Given the description of an element on the screen output the (x, y) to click on. 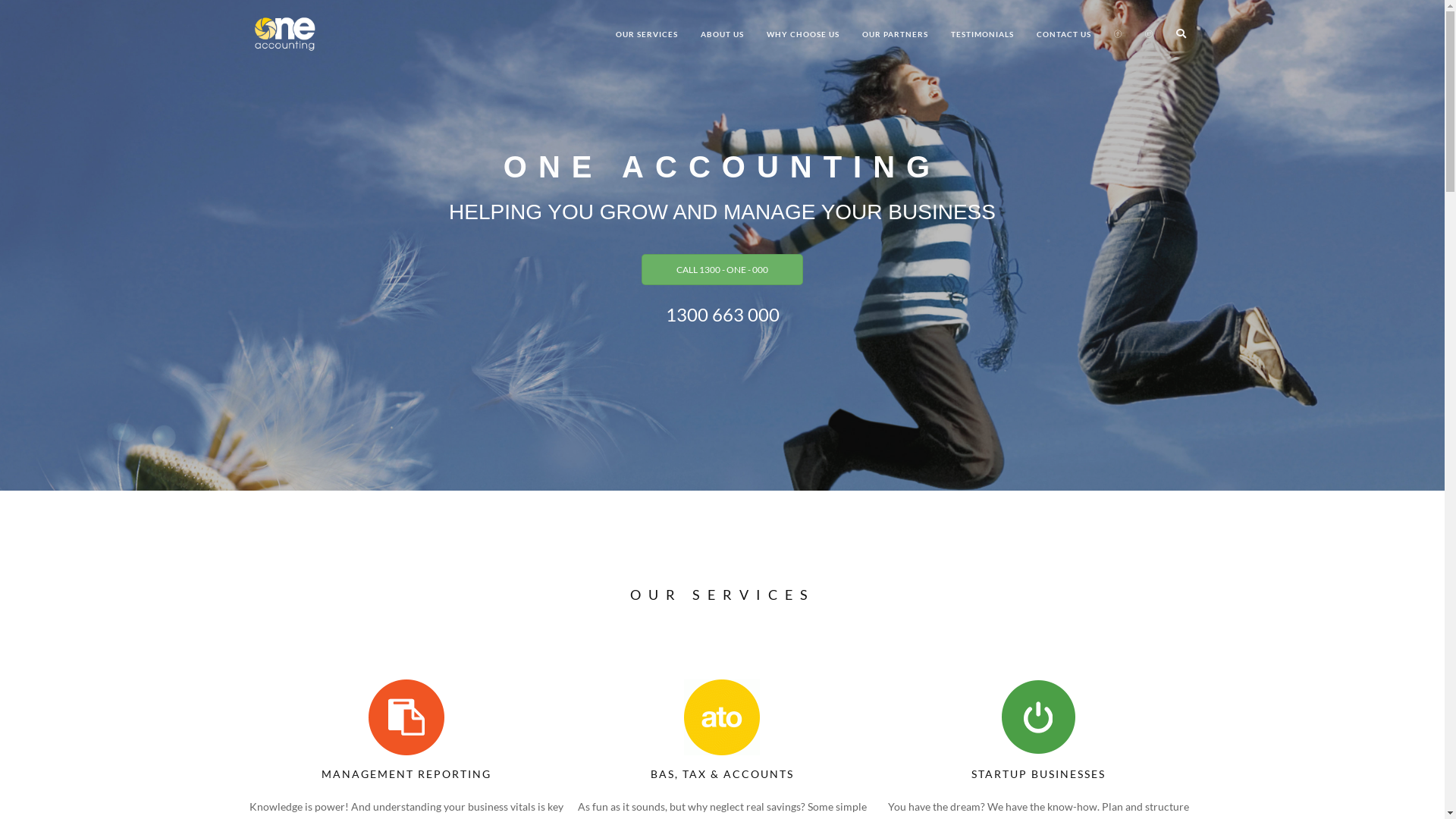
TESTIMONIALS Element type: text (981, 33)
OUR PARTNERS Element type: text (894, 33)
ABOUT US Element type: text (721, 33)
CONTACT US Element type: text (1063, 33)
WHY CHOOSE US Element type: text (802, 33)
OUR SERVICES Element type: text (645, 33)
CALL 1300 - ONE - 000 Element type: text (722, 269)
